Given the description of an element on the screen output the (x, y) to click on. 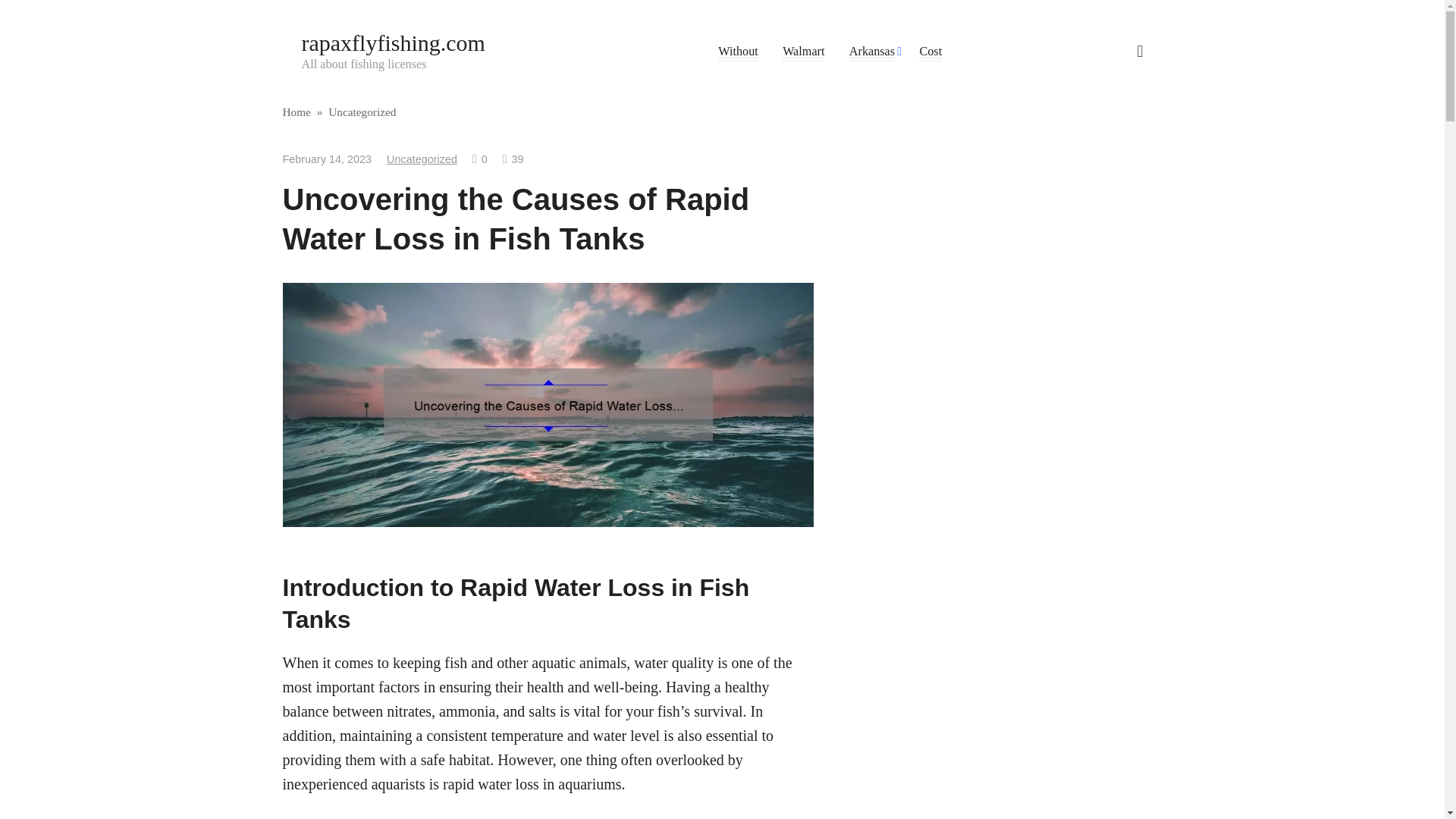
Arkansas (871, 51)
Without (737, 51)
Uncategorized (422, 159)
Cost (930, 51)
Walmart (803, 51)
Home (296, 111)
Uncategorized (362, 111)
rapaxflyfishing.com (392, 42)
